Given the description of an element on the screen output the (x, y) to click on. 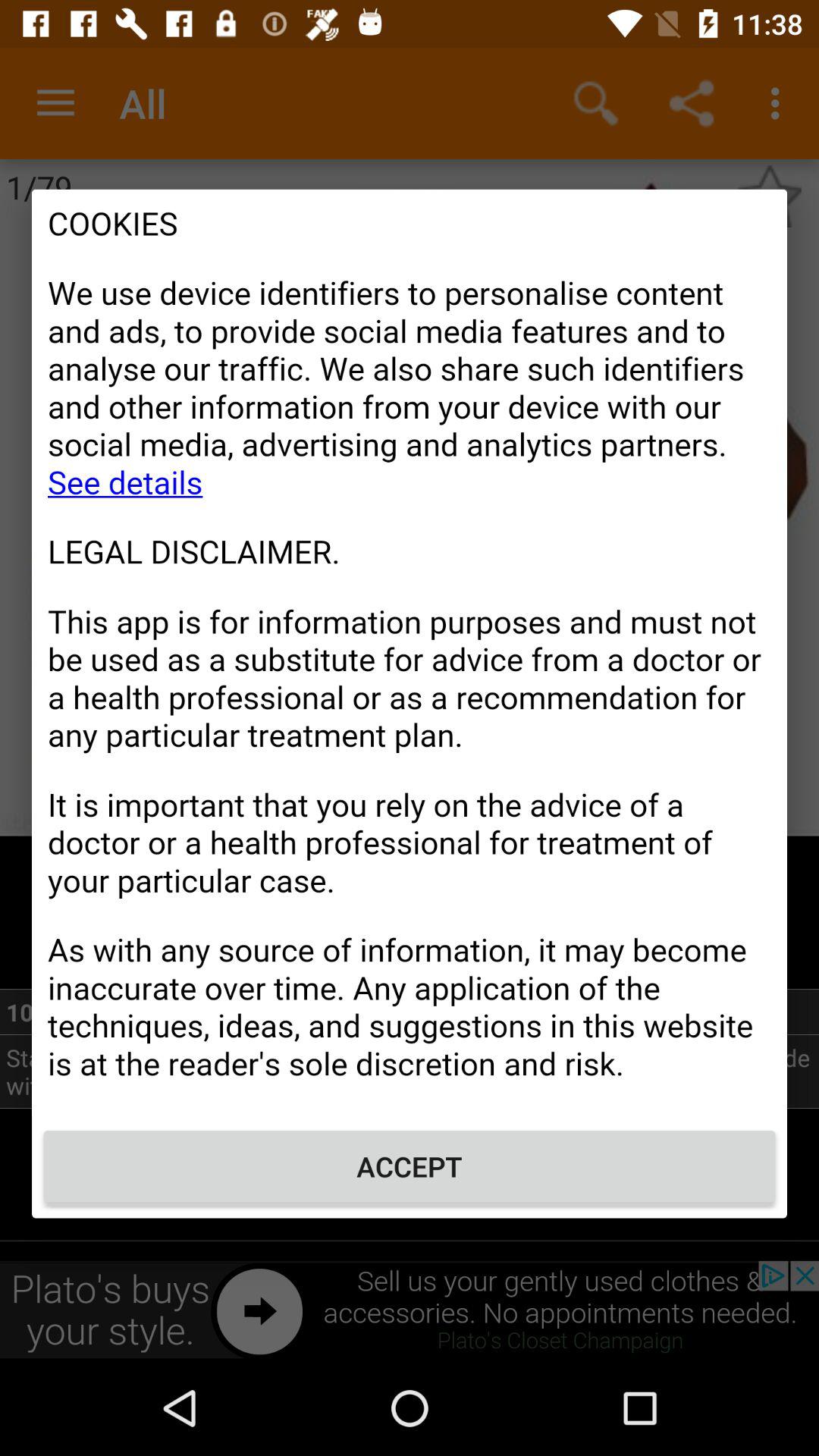
app terms and conditions (409, 651)
